Given the description of an element on the screen output the (x, y) to click on. 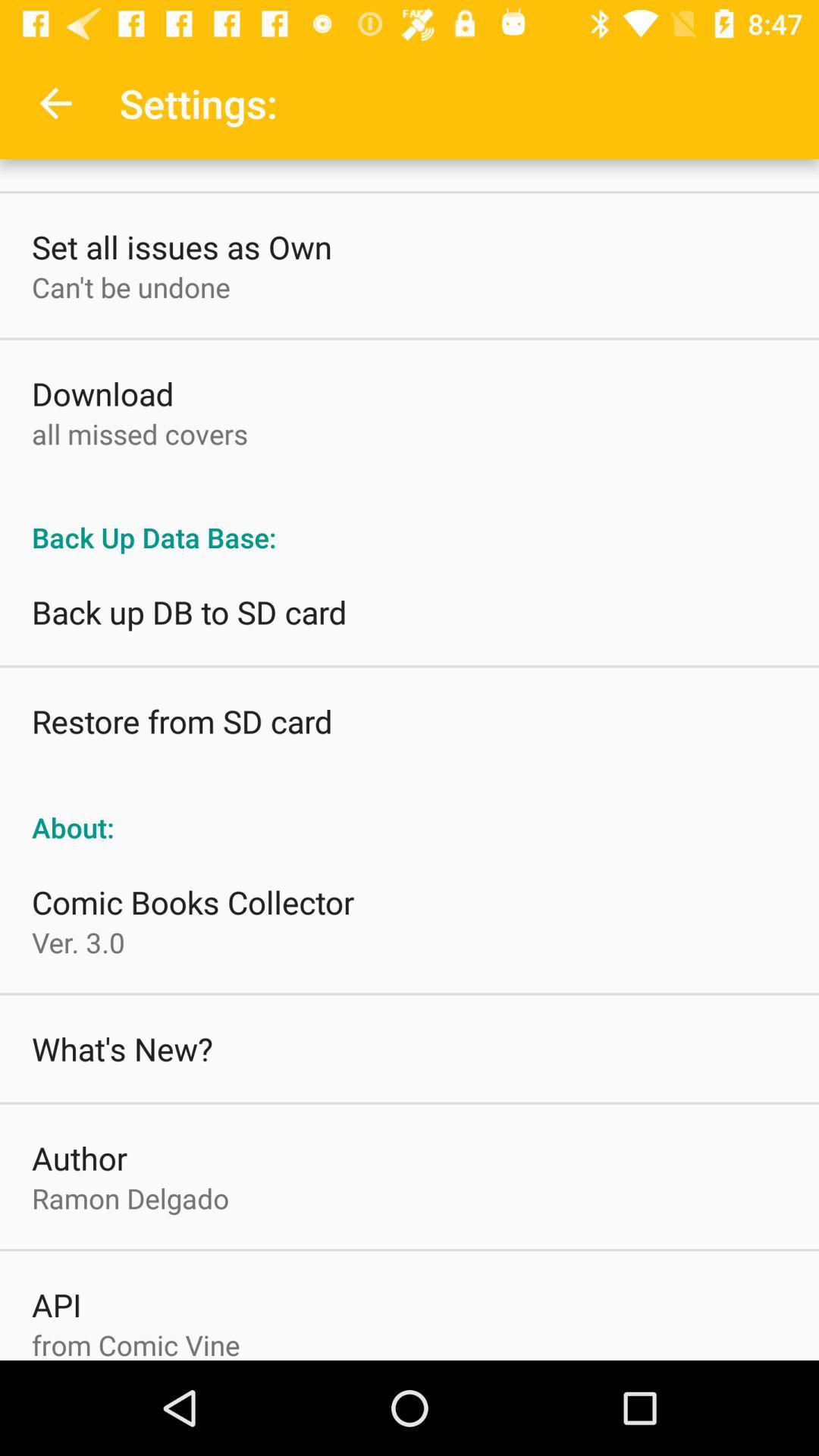
turn on the app next to the settings: icon (55, 103)
